Given the description of an element on the screen output the (x, y) to click on. 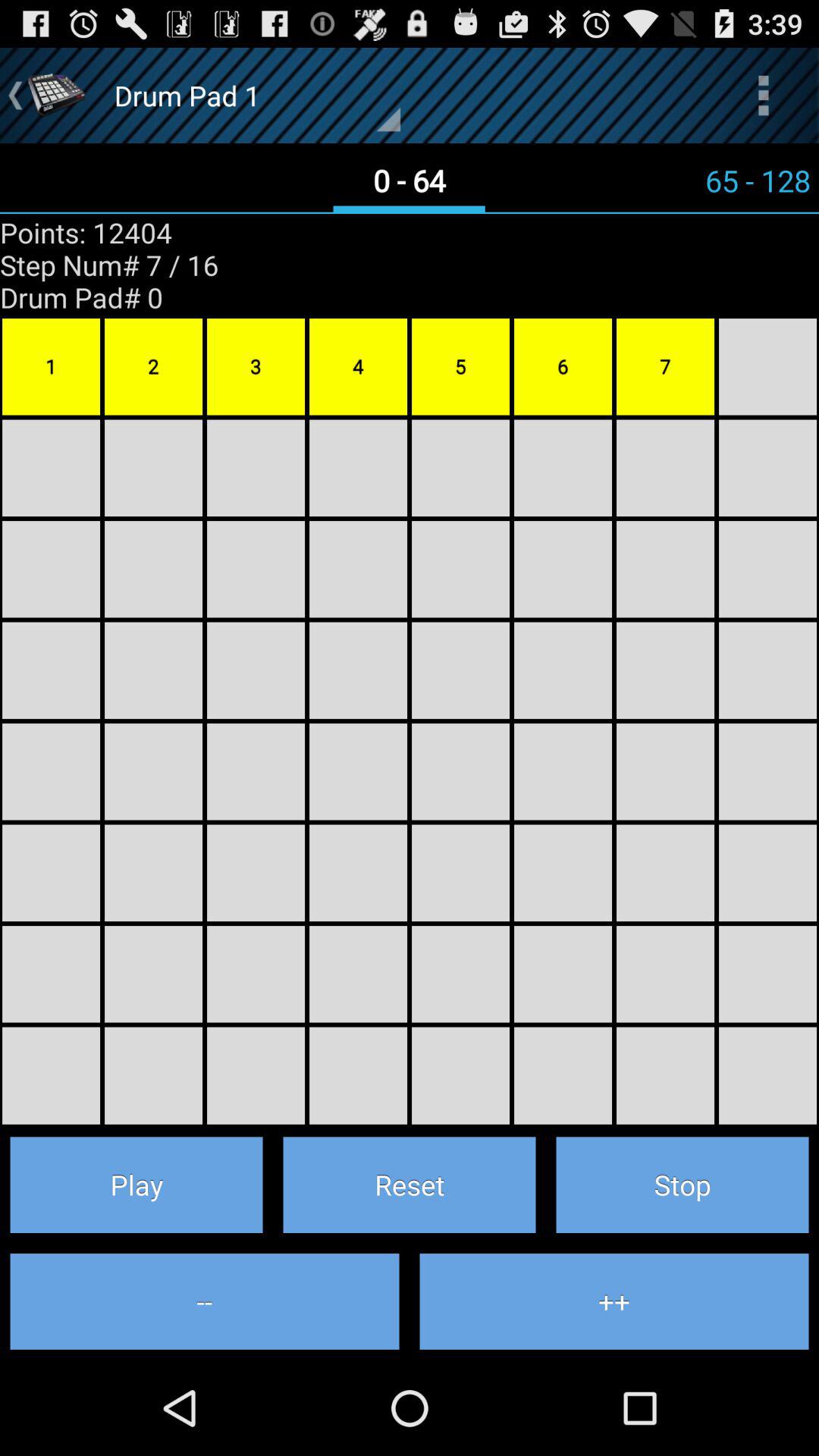
select the block right to the 7 number block on the right hand side (767, 366)
select 6 (562, 366)
click 4th box below 1 (50, 772)
click on yellow box with text 2 (153, 366)
click on 6th row 3rd column  box (255, 974)
